Given the description of an element on the screen output the (x, y) to click on. 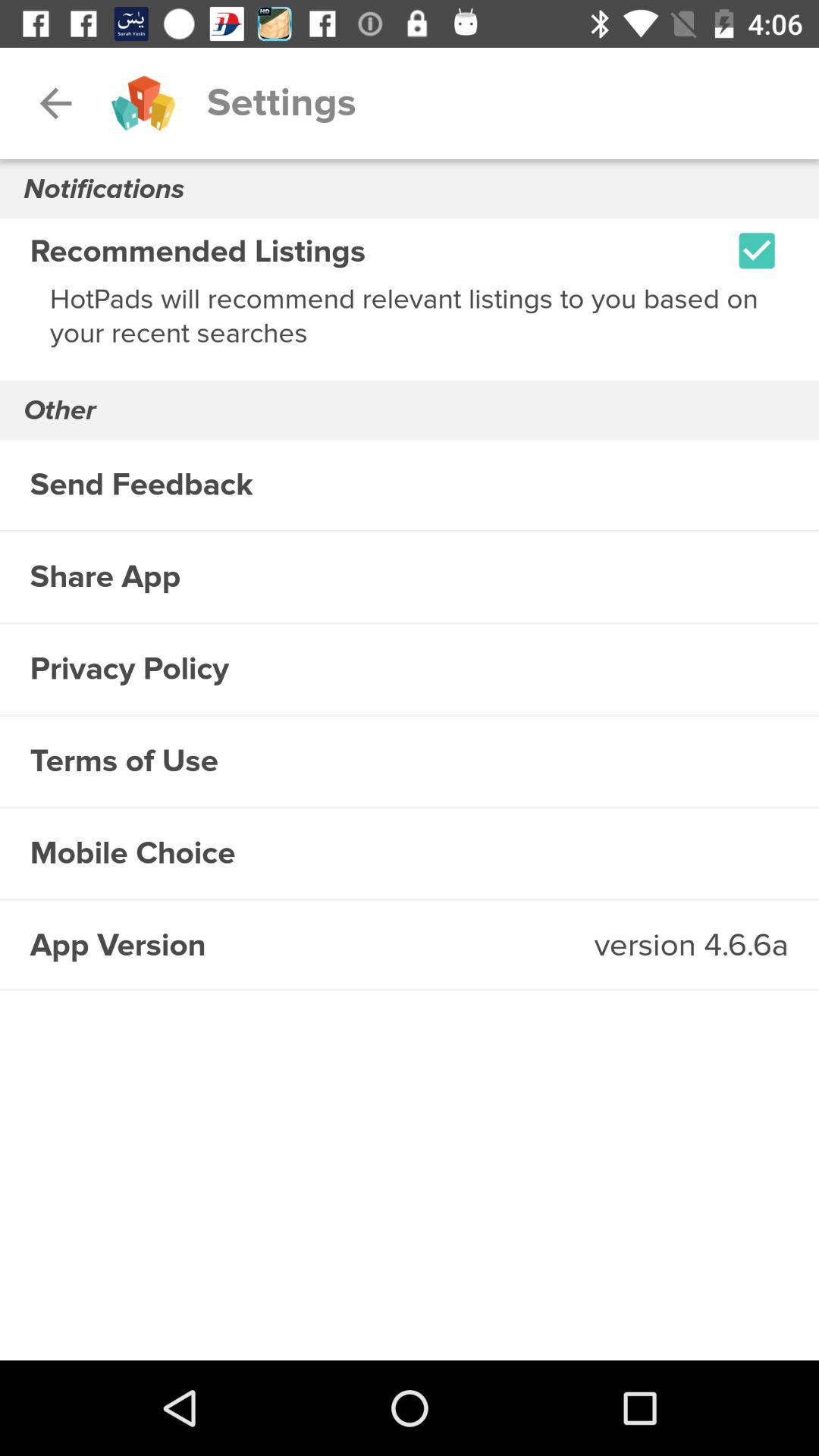
turn off the share app  item (409, 577)
